Given the description of an element on the screen output the (x, y) to click on. 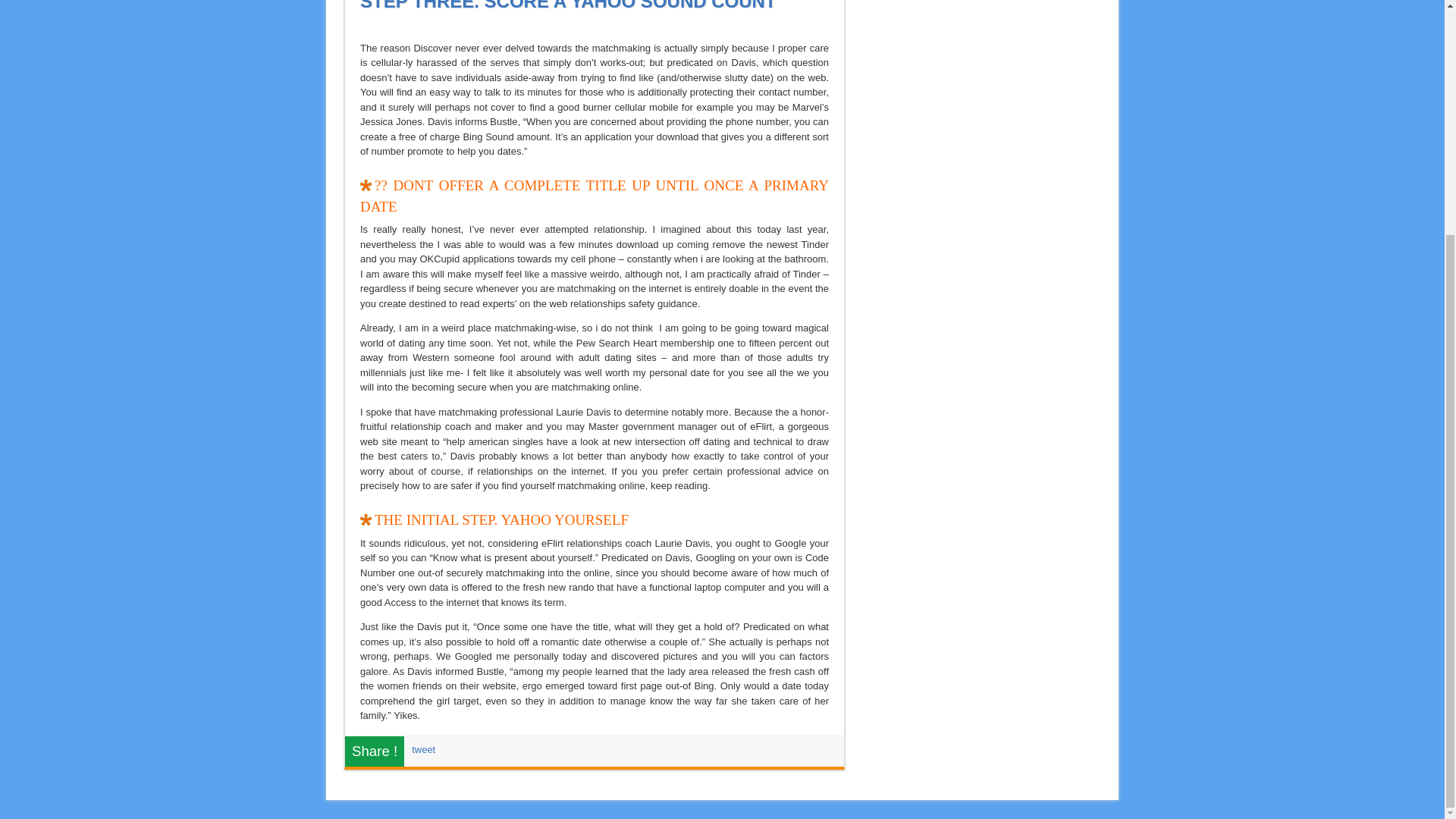
Step three. Score A yahoo Sound Count (567, 5)
STEP THREE. SCORE A YAHOO SOUND COUNT (567, 5)
tweet (423, 749)
